Given the description of an element on the screen output the (x, y) to click on. 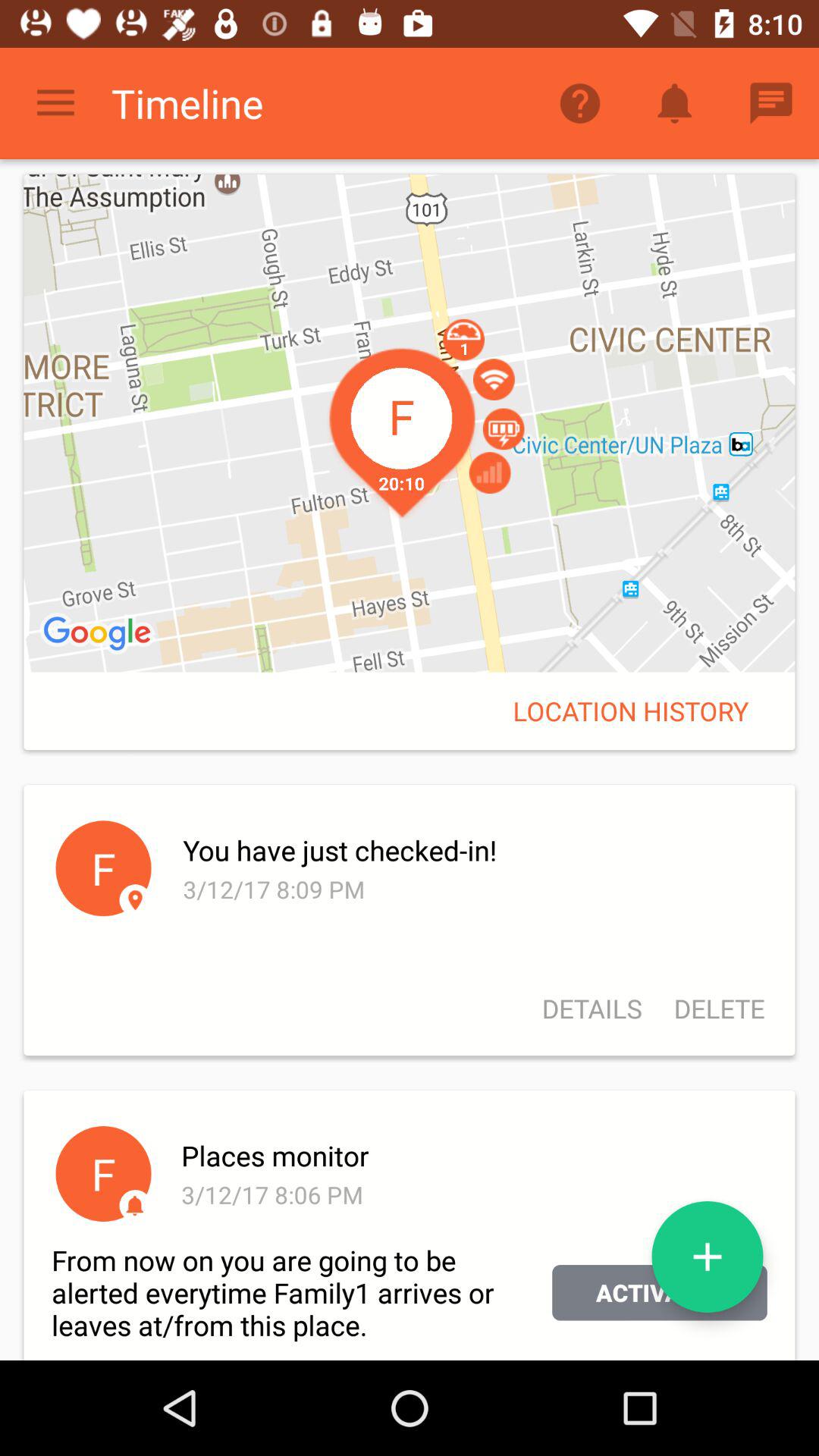
turn on the icon next to timeline item (579, 103)
